Given the description of an element on the screen output the (x, y) to click on. 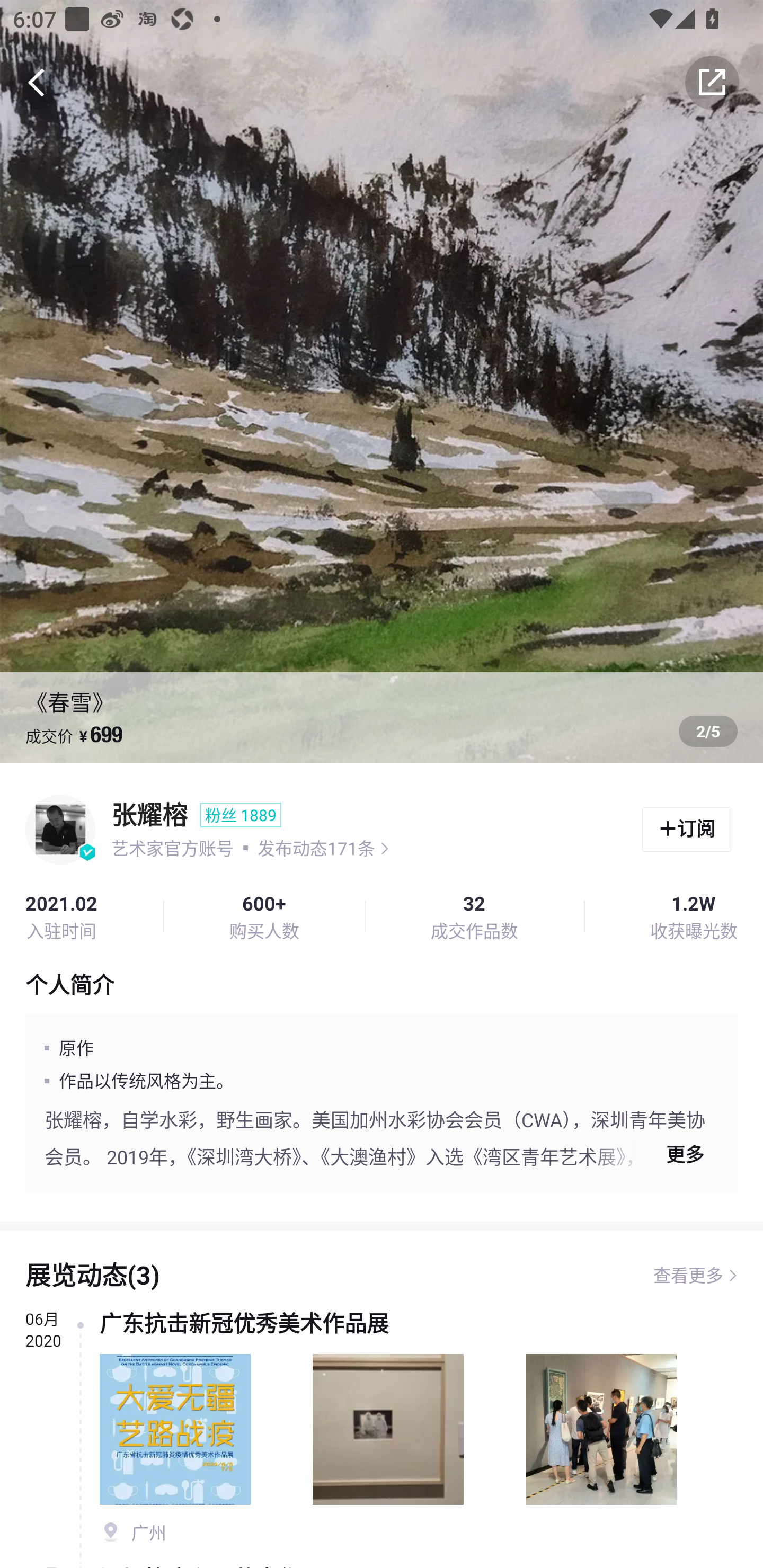
《春雪》 成交价 ¥ 699 (381, 381)
Navigate up (36, 82)
 (712, 81)
订阅 (686, 829)
发布动态171条  (323, 847)
更多 (656, 1153)
查看更多 (688, 1275)
